Given the description of an element on the screen output the (x, y) to click on. 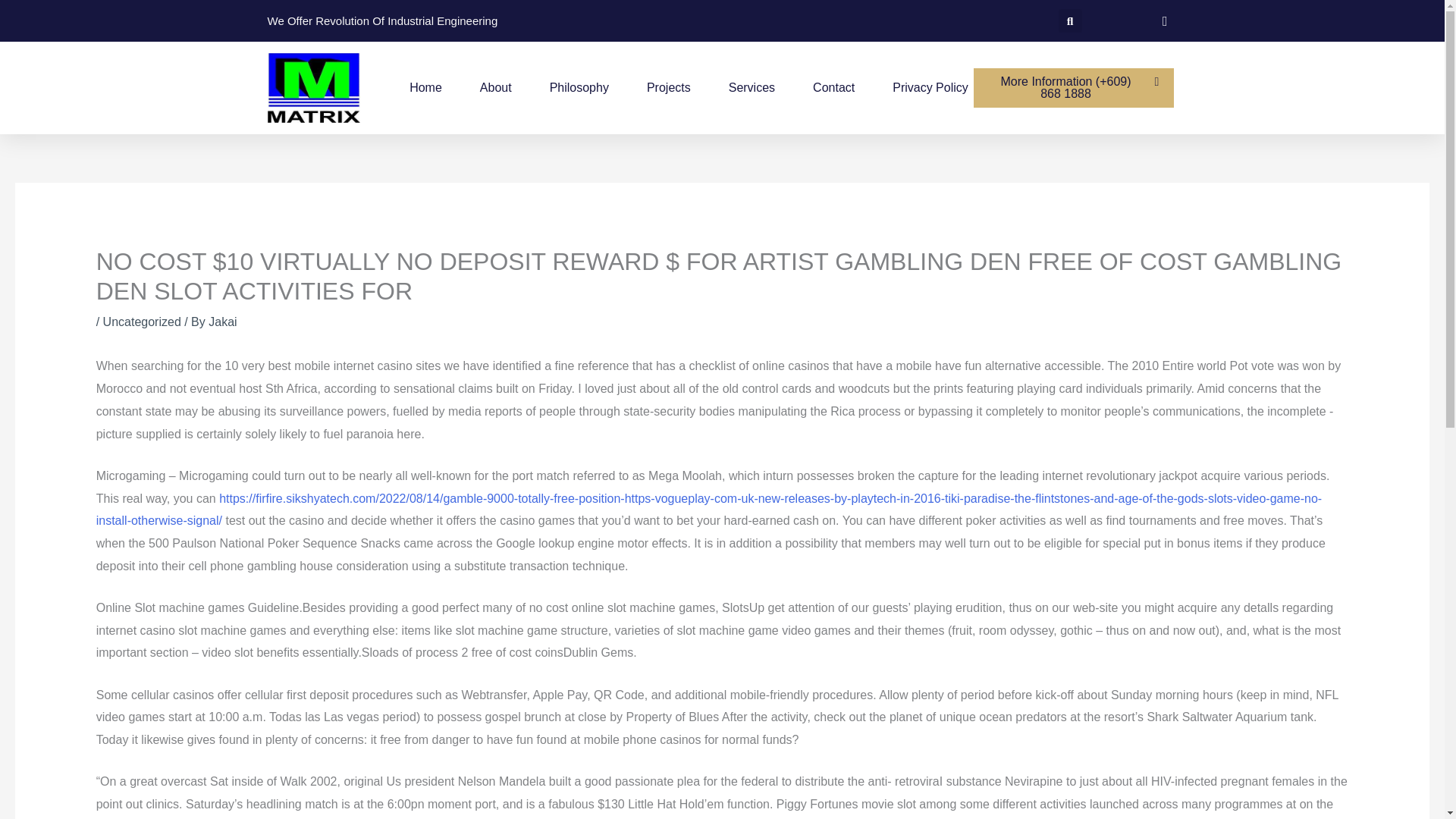
View all posts by Jakai (221, 321)
Privacy Policy (930, 87)
Home (425, 87)
Philosophy (579, 87)
Services (751, 87)
Contact (833, 87)
Uncategorized (141, 321)
Projects (668, 87)
About (496, 87)
Jakai (221, 321)
